Given the description of an element on the screen output the (x, y) to click on. 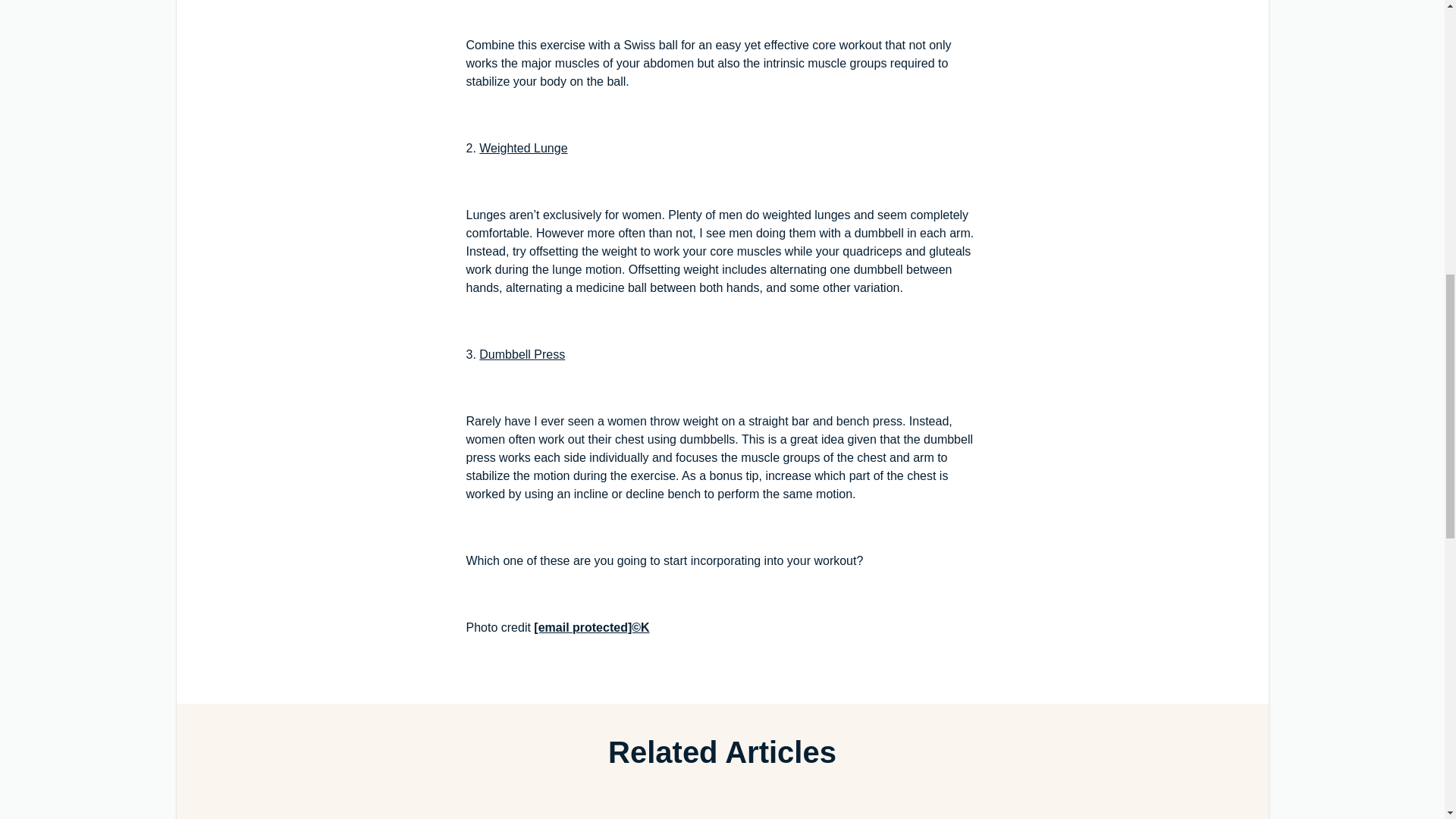
Dumbbell Press (521, 354)
Weighted Lunge (523, 147)
